Given the description of an element on the screen output the (x, y) to click on. 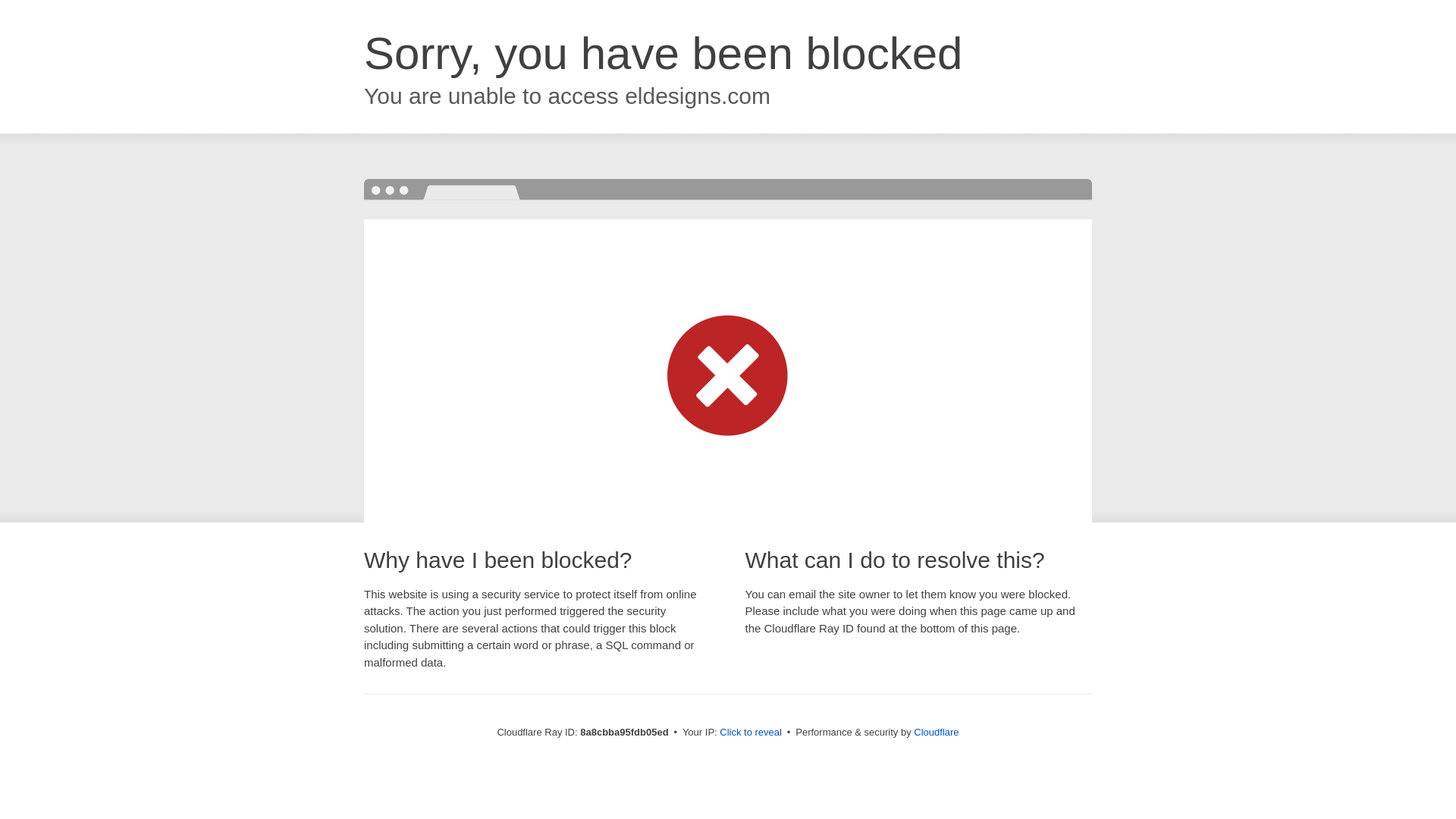
Click to reveal (750, 732)
Cloudflare (936, 731)
